Given the description of an element on the screen output the (x, y) to click on. 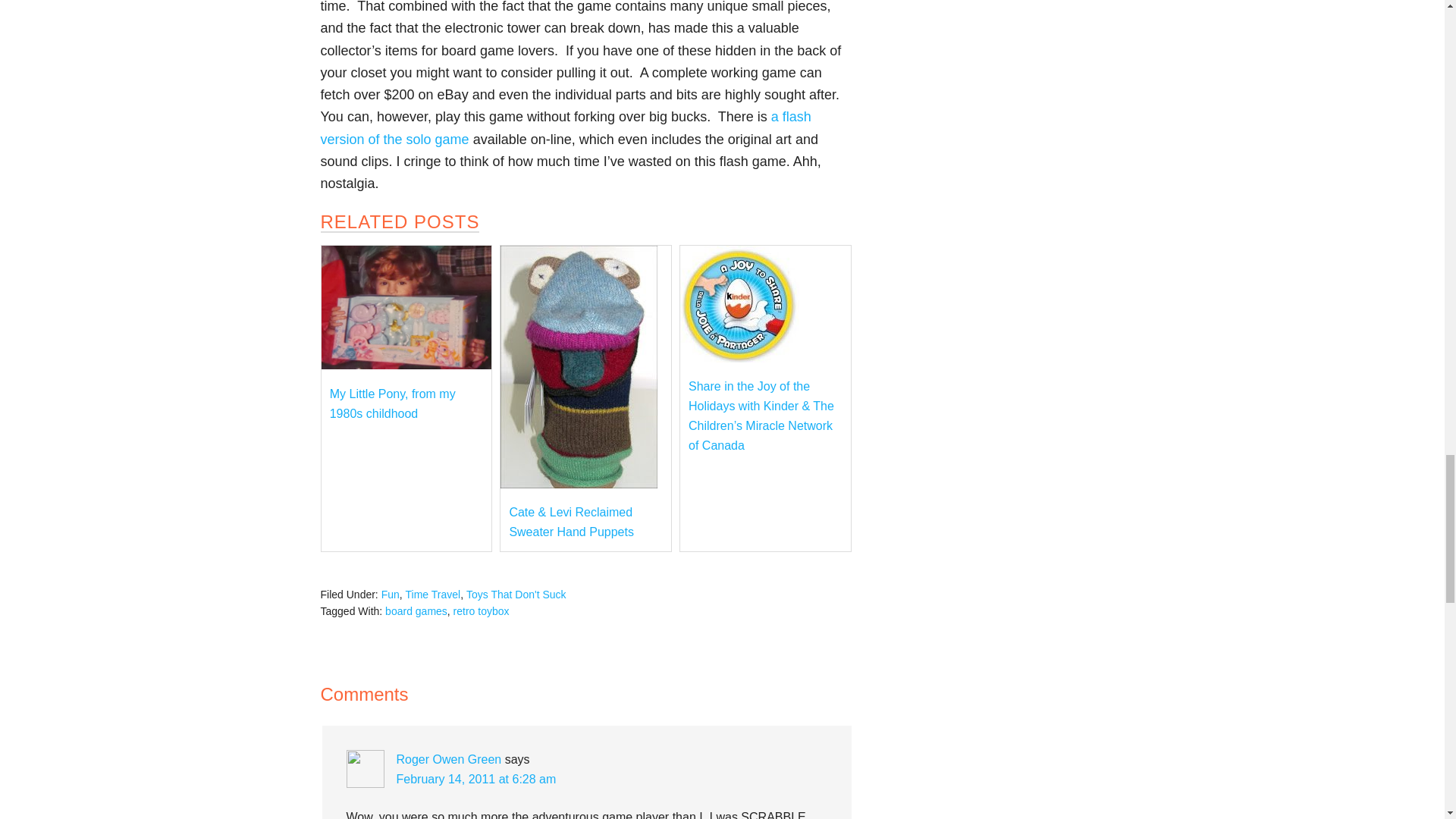
Permanent Link to My Little Pony, from my 1980s childhood (392, 403)
Permanent Link to My Little Pony, from my 1980s childhood (406, 364)
a flash version of the solo game (565, 127)
My Little Pony, from my 1980s childhood (392, 403)
